Given the description of an element on the screen output the (x, y) to click on. 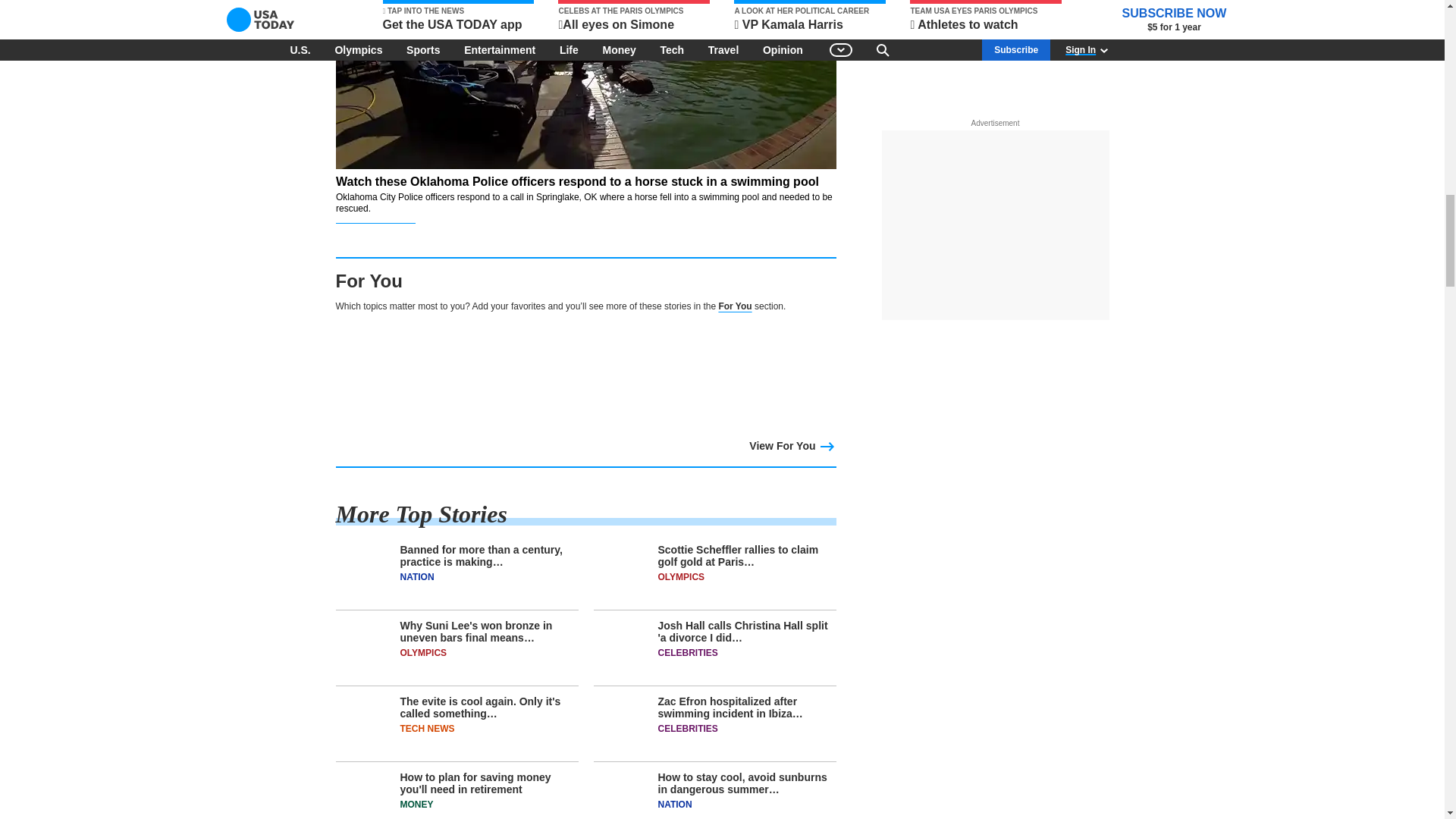
How to stay cool, avoid sunburns in dangerous summer temps (713, 795)
